Given the description of an element on the screen output the (x, y) to click on. 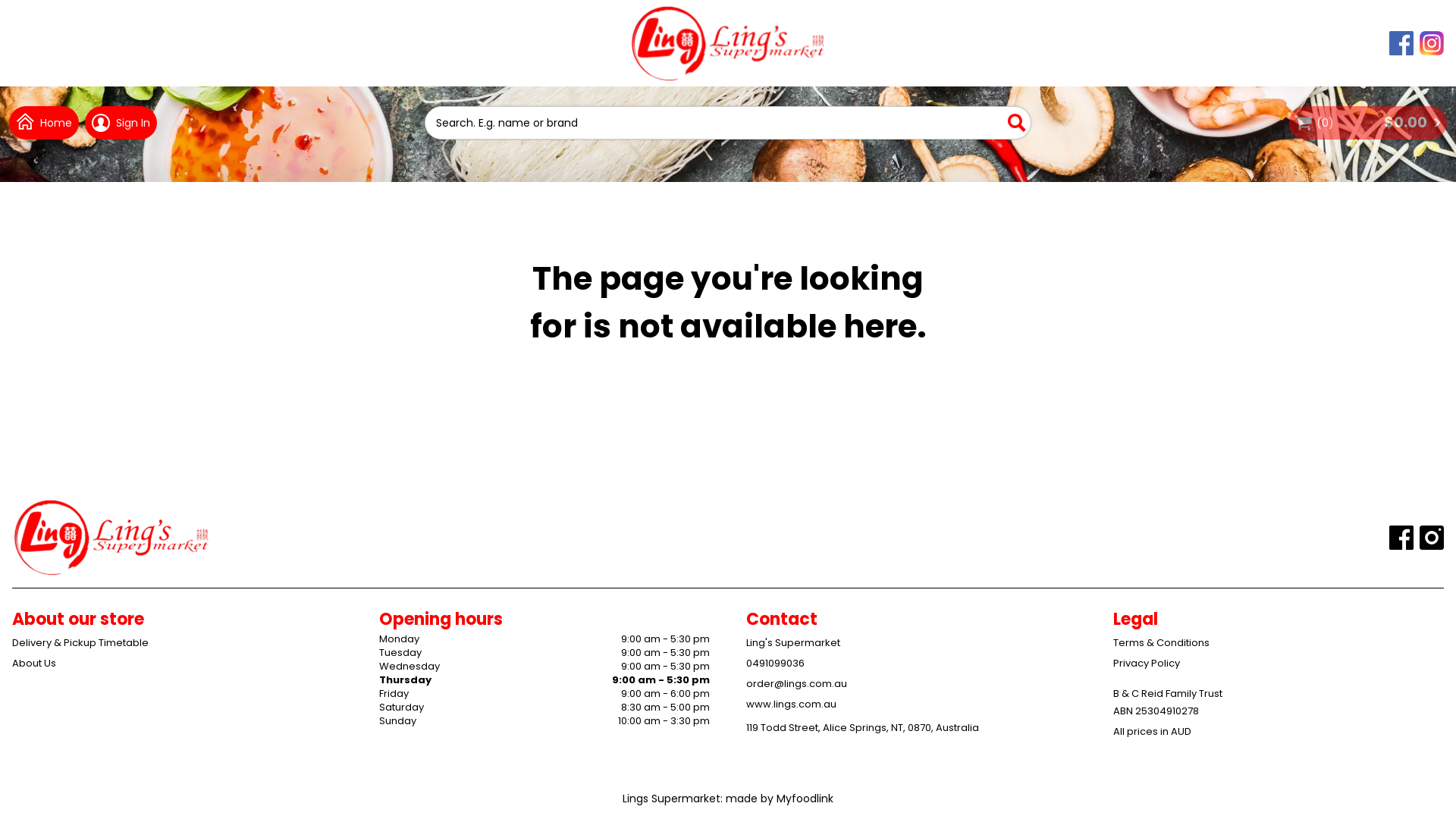
order@lings.com.au Element type: text (911, 683)
Link to Lings Supermarket on Facebook Element type: text (1401, 43)
www.lings.com.au Element type: text (911, 703)
Terms & Conditions Element type: text (1278, 642)
Sign In Element type: text (120, 122)
0491099036 Element type: text (911, 662)
119 Todd Street, Alice Springs, NT, 0870, Australia Element type: text (911, 727)
Ling's Supermarket Element type: text (911, 642)
Delivery & Pickup Timetable Element type: text (177, 642)
Privacy Policy Element type: text (1278, 662)
Search Element type: hover (1016, 122)
Instagram lingssupermarket Element type: hover (1431, 536)
About Us Element type: text (177, 662)
Home Element type: text (43, 122)
(0)
$0.00 Element type: text (1367, 122)
Facebook Element type: hover (1401, 536)
Myfoodlink Element type: text (804, 798)
